Given the description of an element on the screen output the (x, y) to click on. 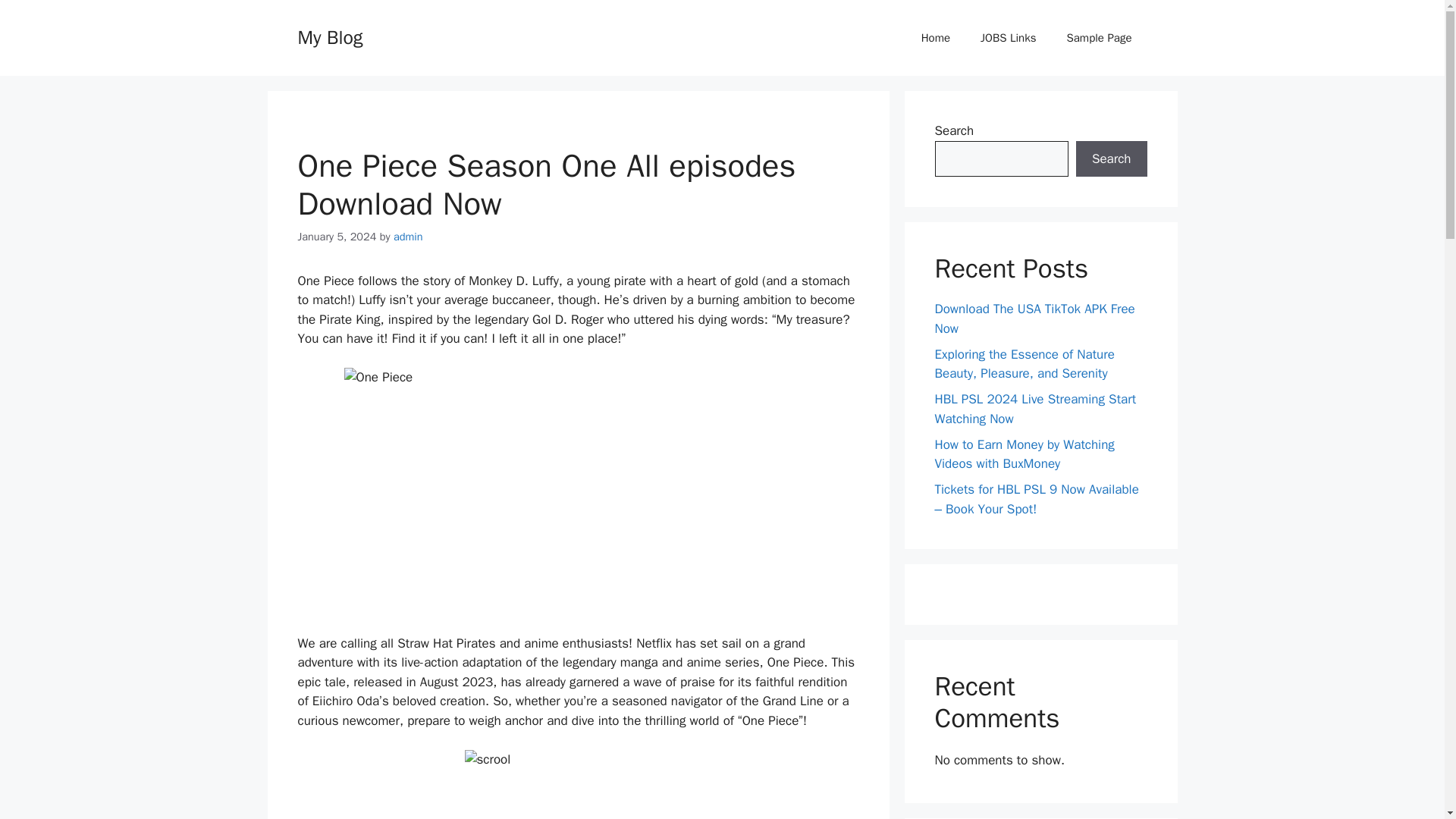
HBL PSL 2024 Live Streaming Start Watching Now (1034, 408)
admin (408, 236)
My Blog (329, 37)
How to Earn Money by Watching Videos with BuxMoney (1023, 454)
Search (1111, 158)
Download The USA TikTok APK Free Now (1034, 318)
Home (935, 37)
Sample Page (1099, 37)
View all posts by admin (408, 236)
JOBS Links (1008, 37)
